Given the description of an element on the screen output the (x, y) to click on. 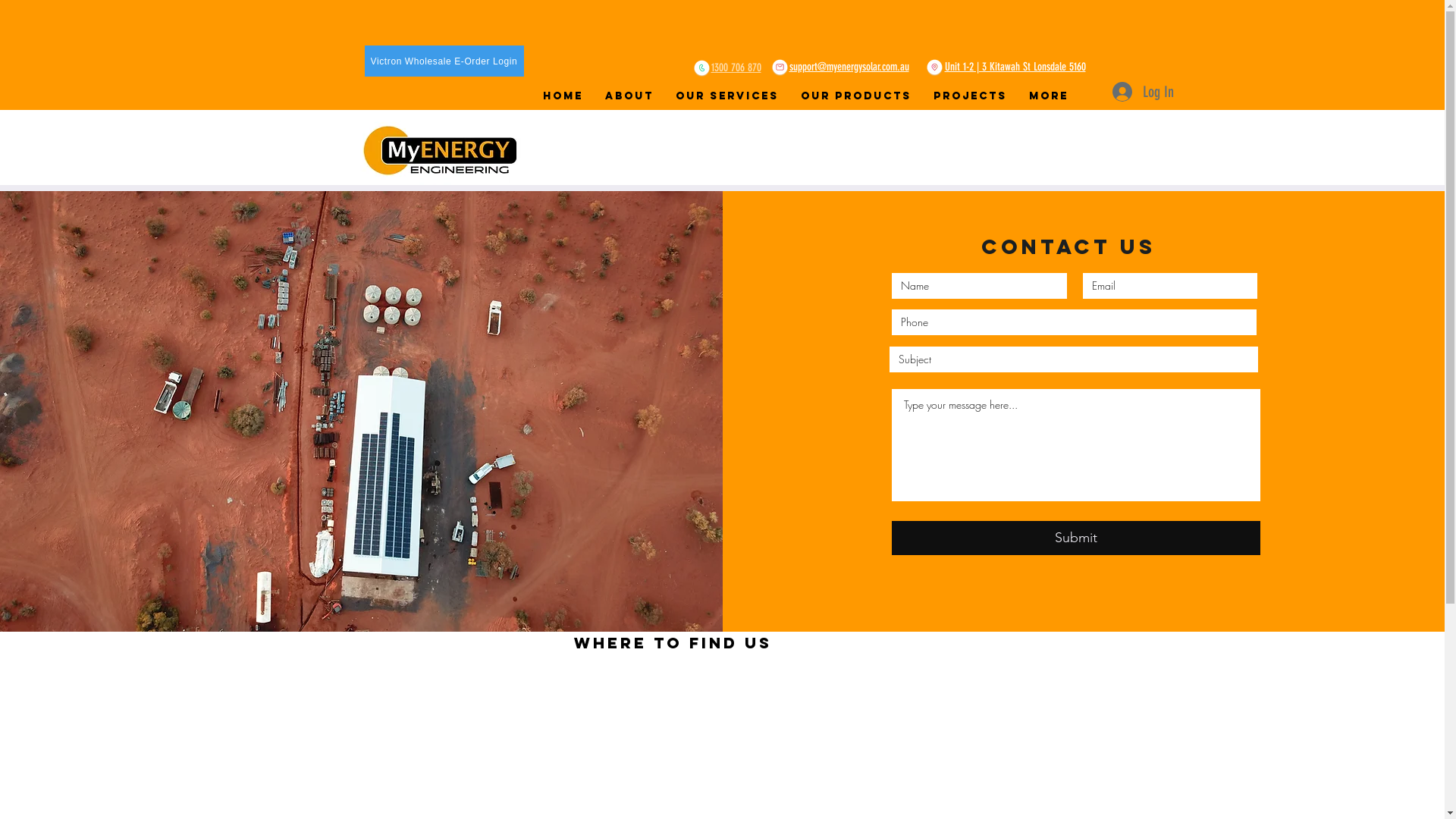
ABOUT Element type: text (632, 95)
PROJECTS Element type: text (972, 95)
1300 706 870 Element type: text (736, 66)
OUR PRODUCTS Element type: text (859, 95)
Submit Element type: text (1075, 537)
Victron Wholesale E-Order Login Element type: text (443, 60)
Unit 1-2 | 3 Kitawah St Lonsdale 5160 Element type: text (1014, 66)
HOME Element type: text (566, 95)
Log In Element type: text (1142, 91)
support@myenergysolar.com.au Element type: text (848, 66)
OUR SERVICES Element type: text (729, 95)
